Given the description of an element on the screen output the (x, y) to click on. 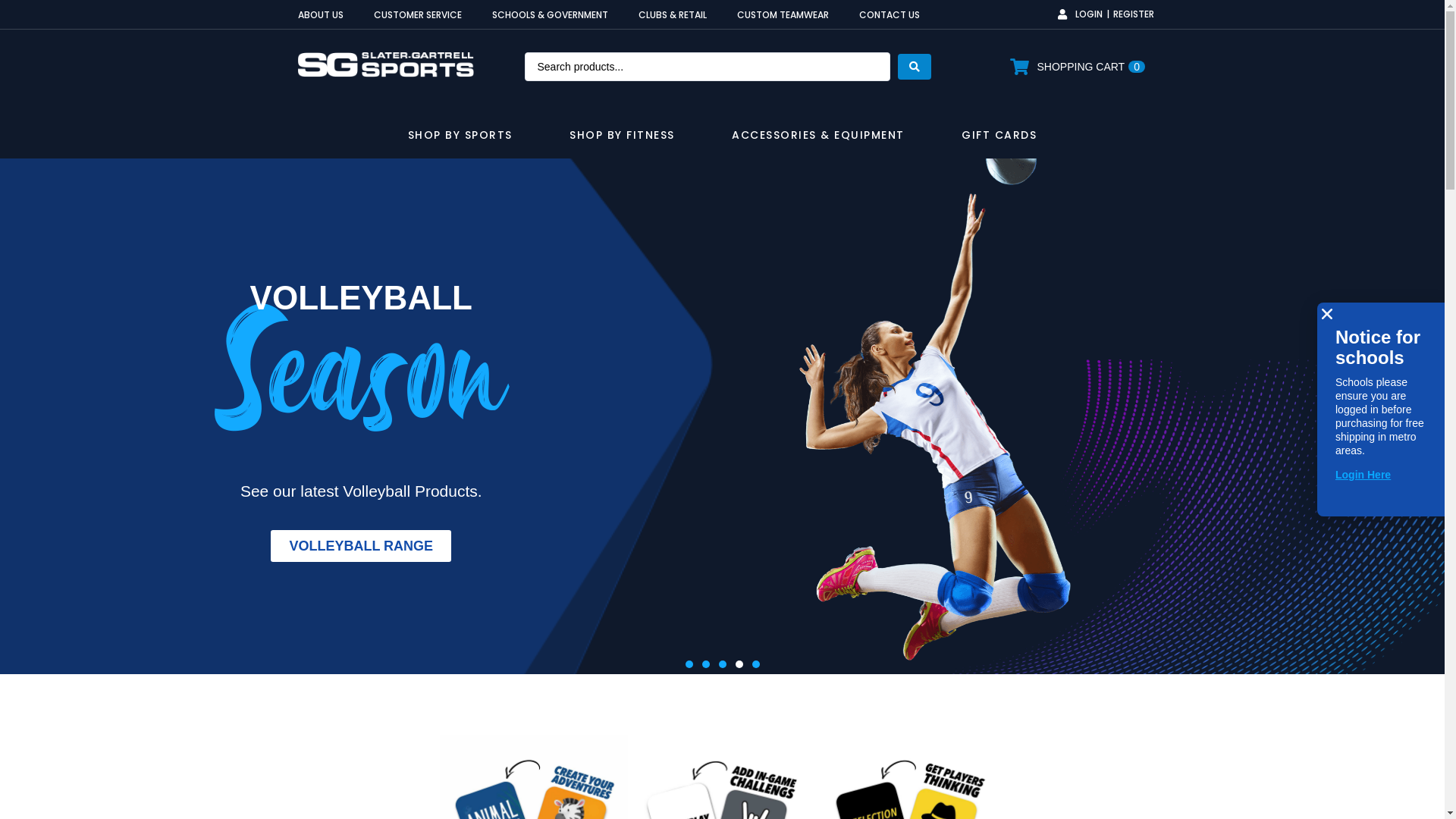
CONTACT US Element type: text (888, 14)
CLUBS & RETAIL Element type: text (672, 14)
SCHOOLS & GOVERNMENT Element type: text (549, 14)
SHOP BY SPORTS Element type: text (461, 138)
SHOP BY FITNESS Element type: text (623, 138)
VOLLEYBALL RANGE Element type: text (360, 545)
ACCESSORIES & EQUIPMENT Element type: text (819, 138)
Login Here Element type: text (1362, 474)
CUSTOM TEAMWEAR Element type: text (782, 14)
CUSTOMER SERVICE Element type: text (416, 14)
LOGIN Element type: text (1079, 14)
GIFT CARDS Element type: text (998, 138)
SHOPPING CART
0 Element type: text (1077, 66)
REGISTER Element type: text (1133, 14)
ABOUT US Element type: text (319, 14)
